Given the description of an element on the screen output the (x, y) to click on. 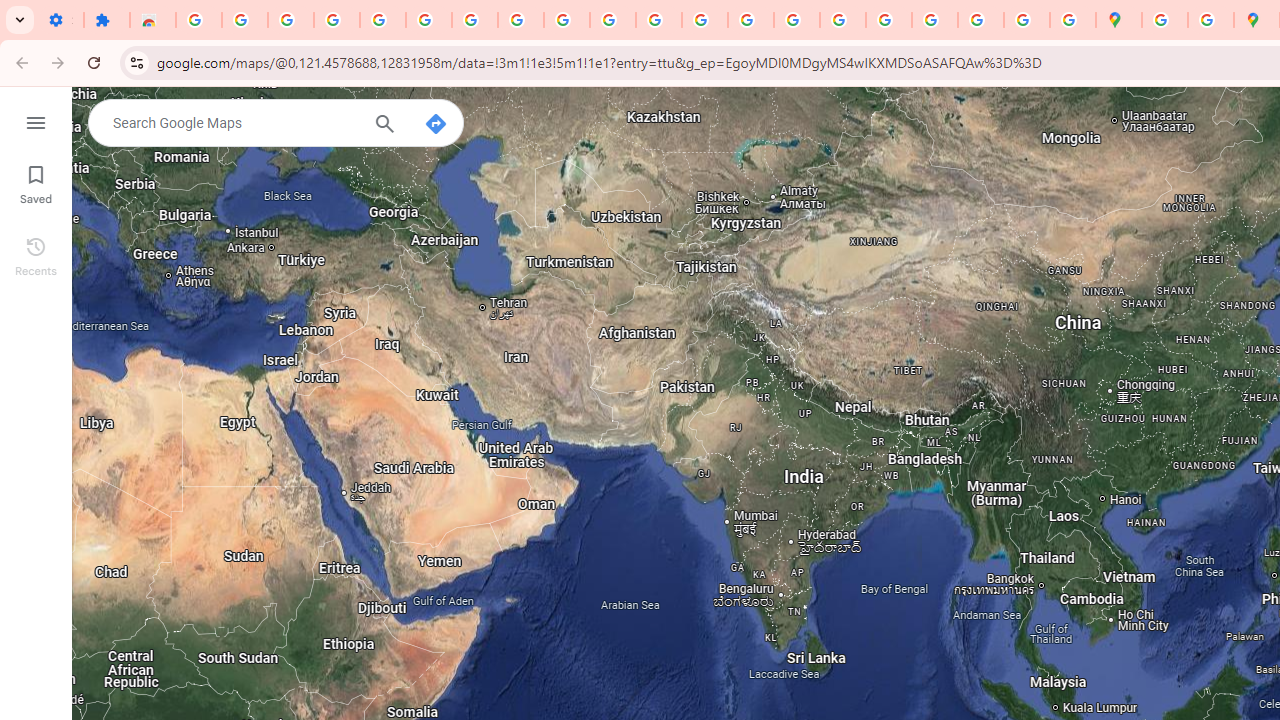
Search Google Maps (234, 122)
Learn how to find your photos - Google Photos Help (290, 20)
Create your Google Account (1210, 20)
Sign in - Google Accounts (382, 20)
Recents (35, 254)
Directions (436, 124)
Delete photos & videos - Computer - Google Photos Help (244, 20)
Extensions (107, 20)
Google Account Help (428, 20)
